Given the description of an element on the screen output the (x, y) to click on. 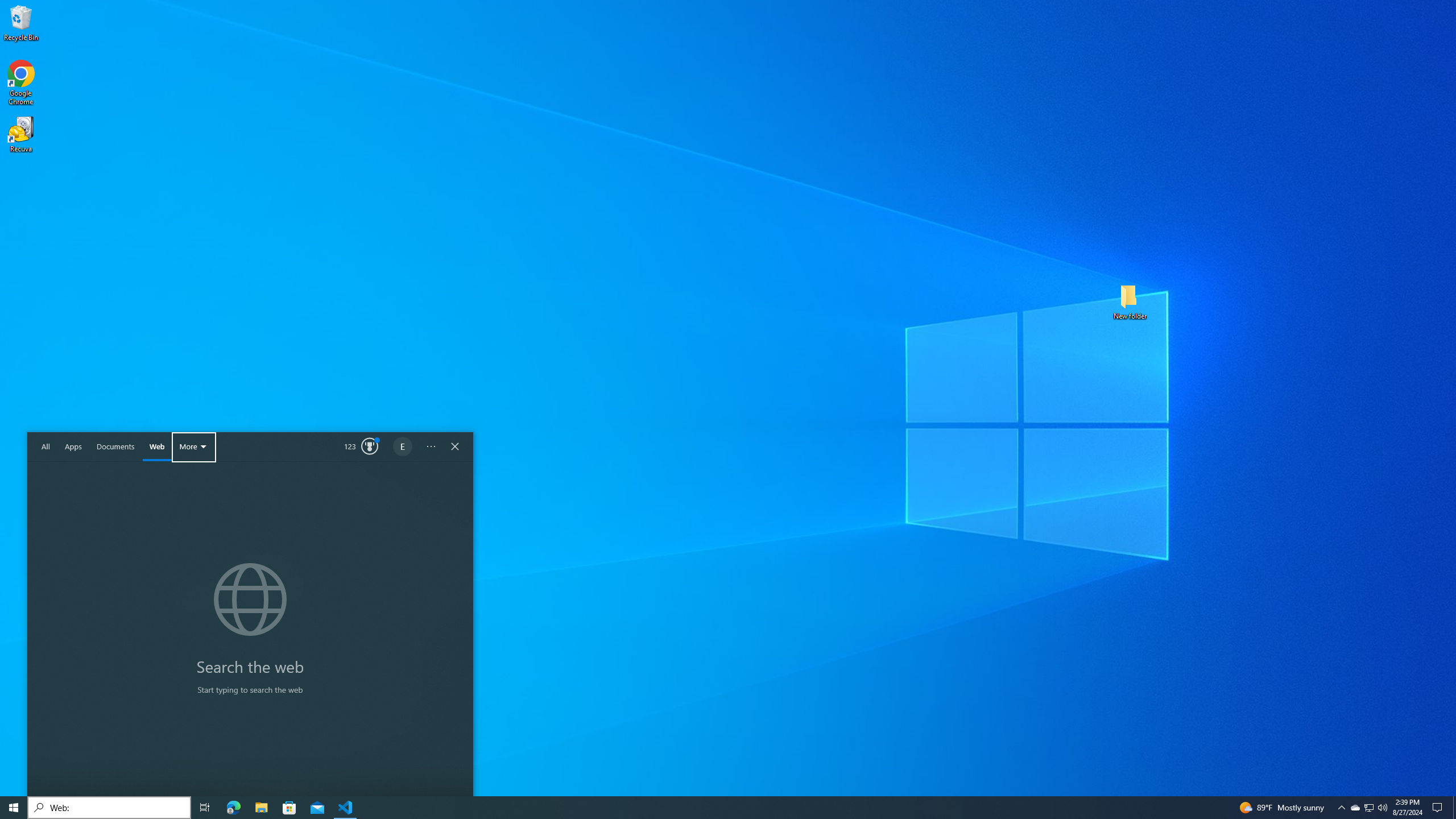
Q2790: 100% (1382, 807)
Microsoft Rewards balance: 123 (1355, 807)
Apps (361, 447)
Action Center, No new notifications (73, 447)
